Given the description of an element on the screen output the (x, y) to click on. 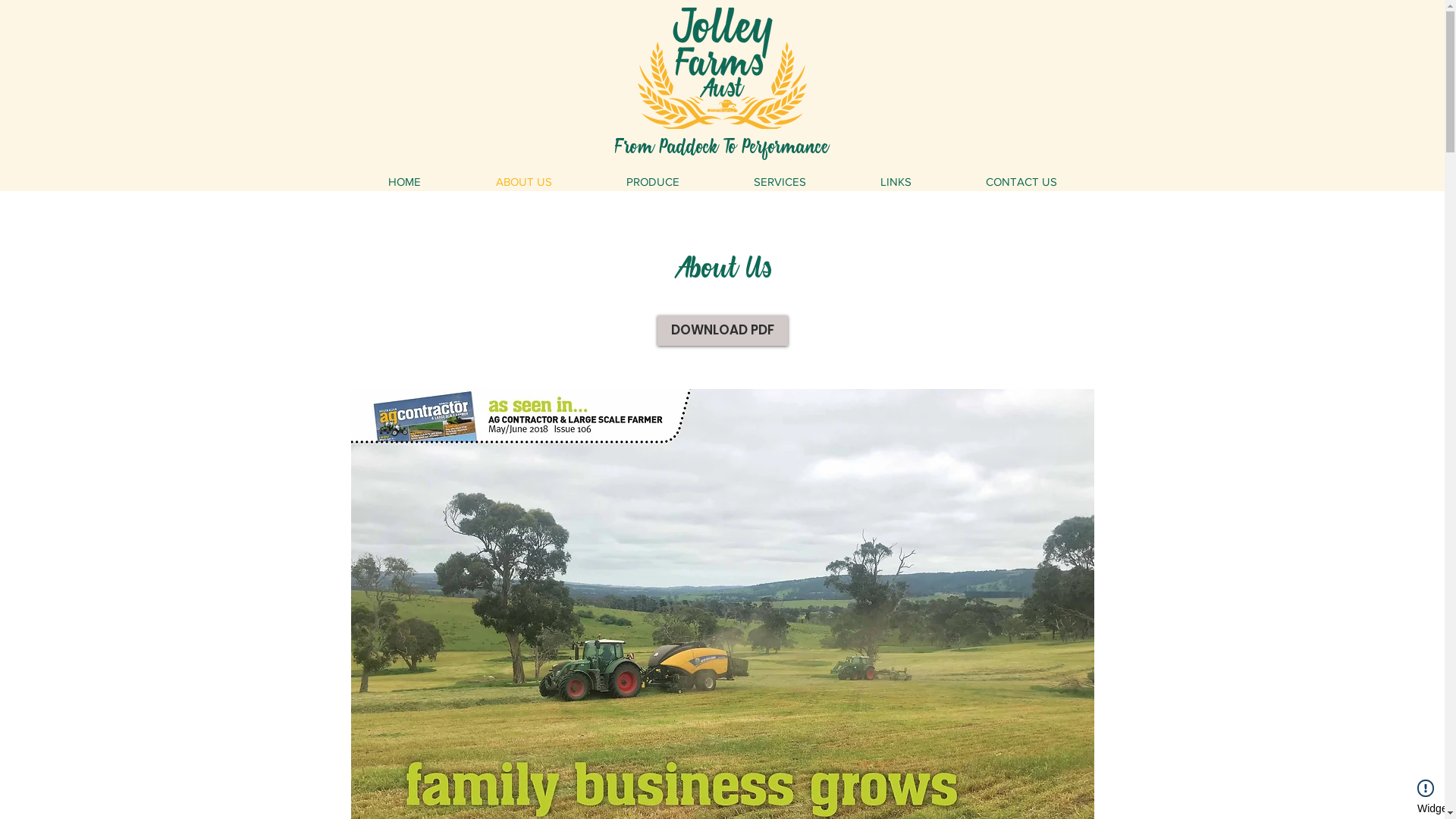
CONTACT US Element type: text (1020, 181)
LINKS Element type: text (895, 181)
SERVICES Element type: text (778, 181)
DOWNLOAD PDF Element type: text (721, 330)
PRODUCE Element type: text (651, 181)
HOME Element type: text (404, 181)
ABOUT US Element type: text (523, 181)
